Given the description of an element on the screen output the (x, y) to click on. 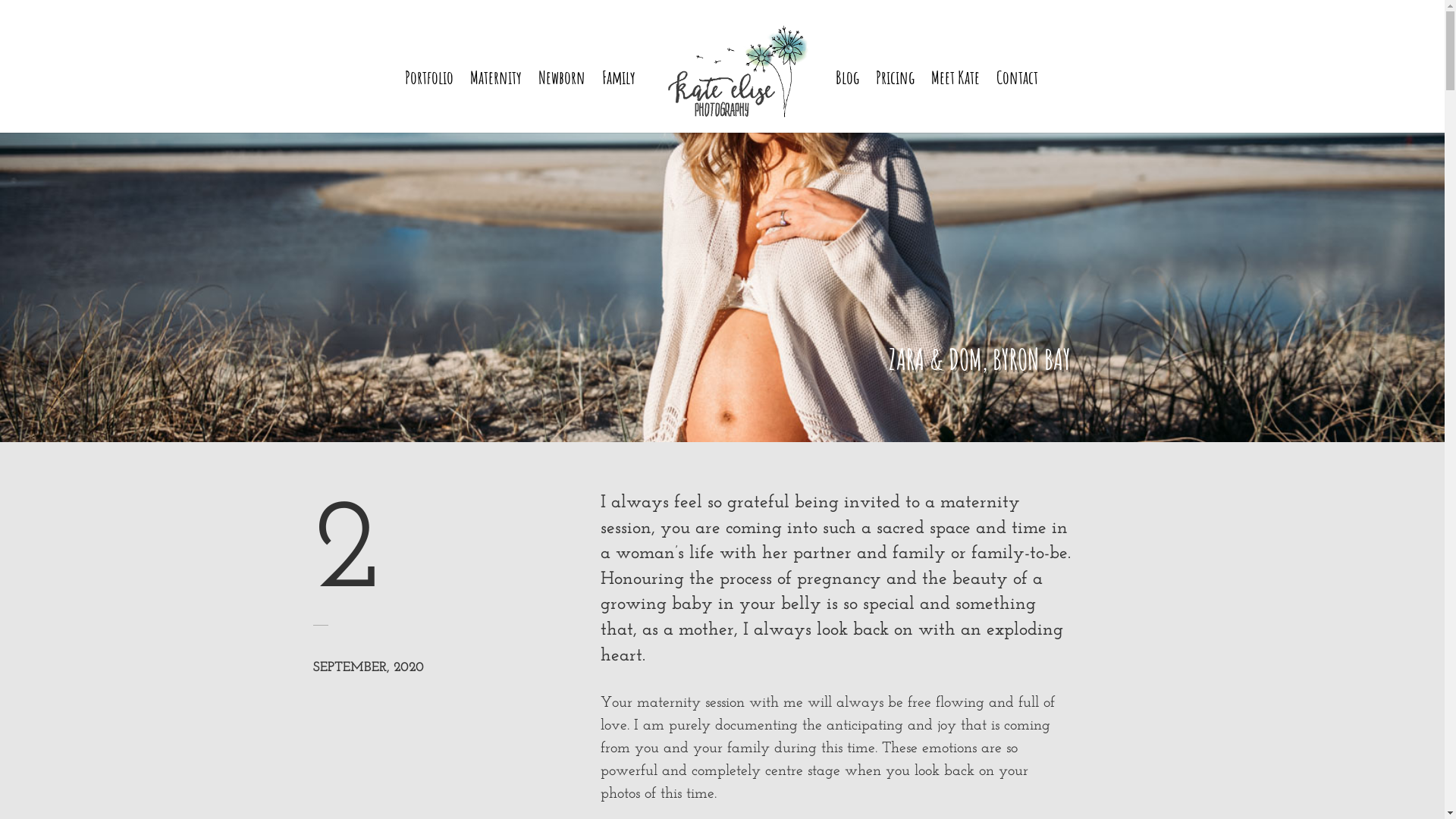
Newborn Element type: text (561, 102)
Blog Element type: text (847, 102)
Meet Kate Element type: text (955, 102)
Portfolio Element type: text (428, 102)
Contact Element type: text (1017, 102)
Maternity Element type: text (495, 102)
Pricing Element type: text (894, 102)
Family Element type: text (618, 102)
